Given the description of an element on the screen output the (x, y) to click on. 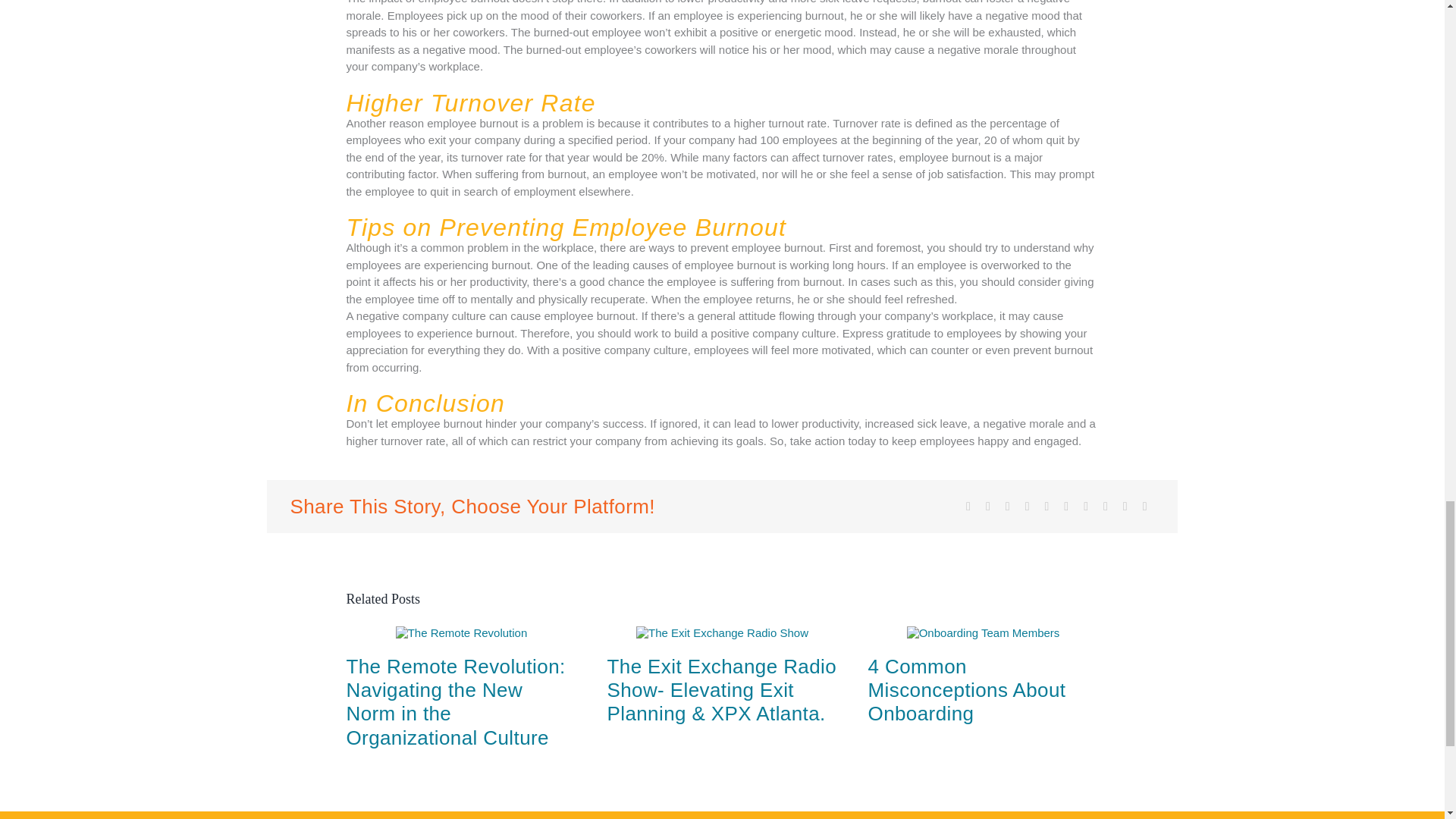
Facebook (968, 506)
LinkedIn (1026, 506)
Xing (1125, 506)
Pinterest (1085, 506)
X (987, 506)
Reddit (1007, 506)
Email (1144, 506)
Tumblr (1066, 506)
Vk (1105, 506)
WhatsApp (1046, 506)
4 Common Misconceptions About Onboarding (966, 689)
4 Common Misconceptions About Onboarding (966, 689)
